Given the description of an element on the screen output the (x, y) to click on. 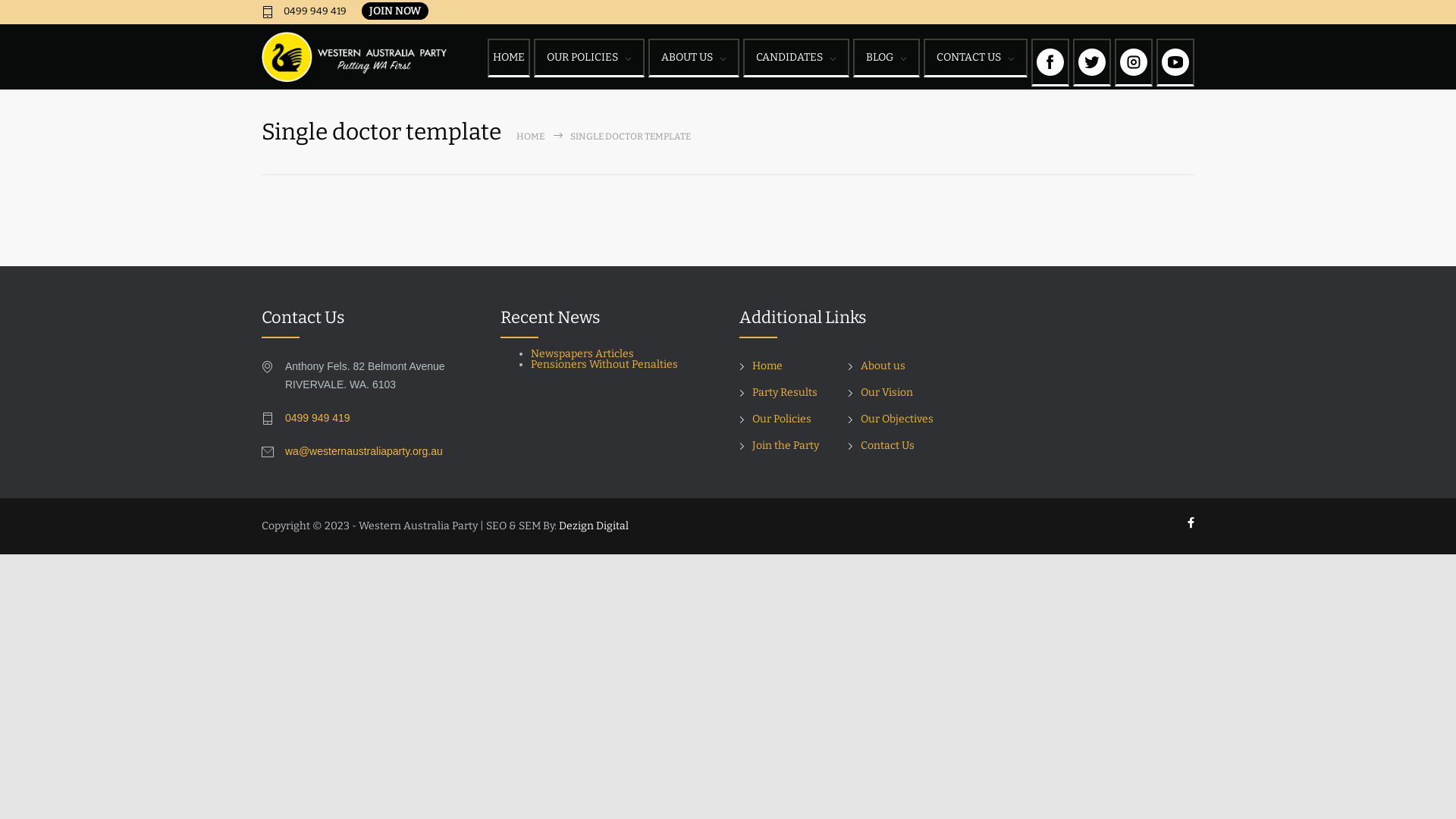
HOME Element type: text (508, 57)
Party Results Element type: text (778, 391)
0499 949 419 Element type: text (317, 417)
CONTACT US Element type: text (975, 57)
BLOG Element type: text (886, 57)
OUR POLICIES Element type: text (588, 57)
Newspapers Articles Element type: text (581, 353)
CANDIDATES Element type: text (796, 57)
HOME Element type: text (530, 136)
Contact Us Element type: text (880, 445)
0499 949 419 Element type: text (303, 12)
Our Objectives Element type: text (890, 418)
About us Element type: text (876, 365)
ABOUT US Element type: text (693, 57)
wa@westernaustraliaparty.org.au Element type: text (363, 451)
Home Element type: text (760, 365)
Pensioners Without Penalties  Element type: text (605, 363)
Join the Party Element type: text (779, 445)
Our Vision Element type: text (880, 391)
Dezign Digital Element type: text (593, 525)
Our Policies Element type: text (775, 418)
JOIN NOW Element type: text (394, 10)
